Given the description of an element on the screen output the (x, y) to click on. 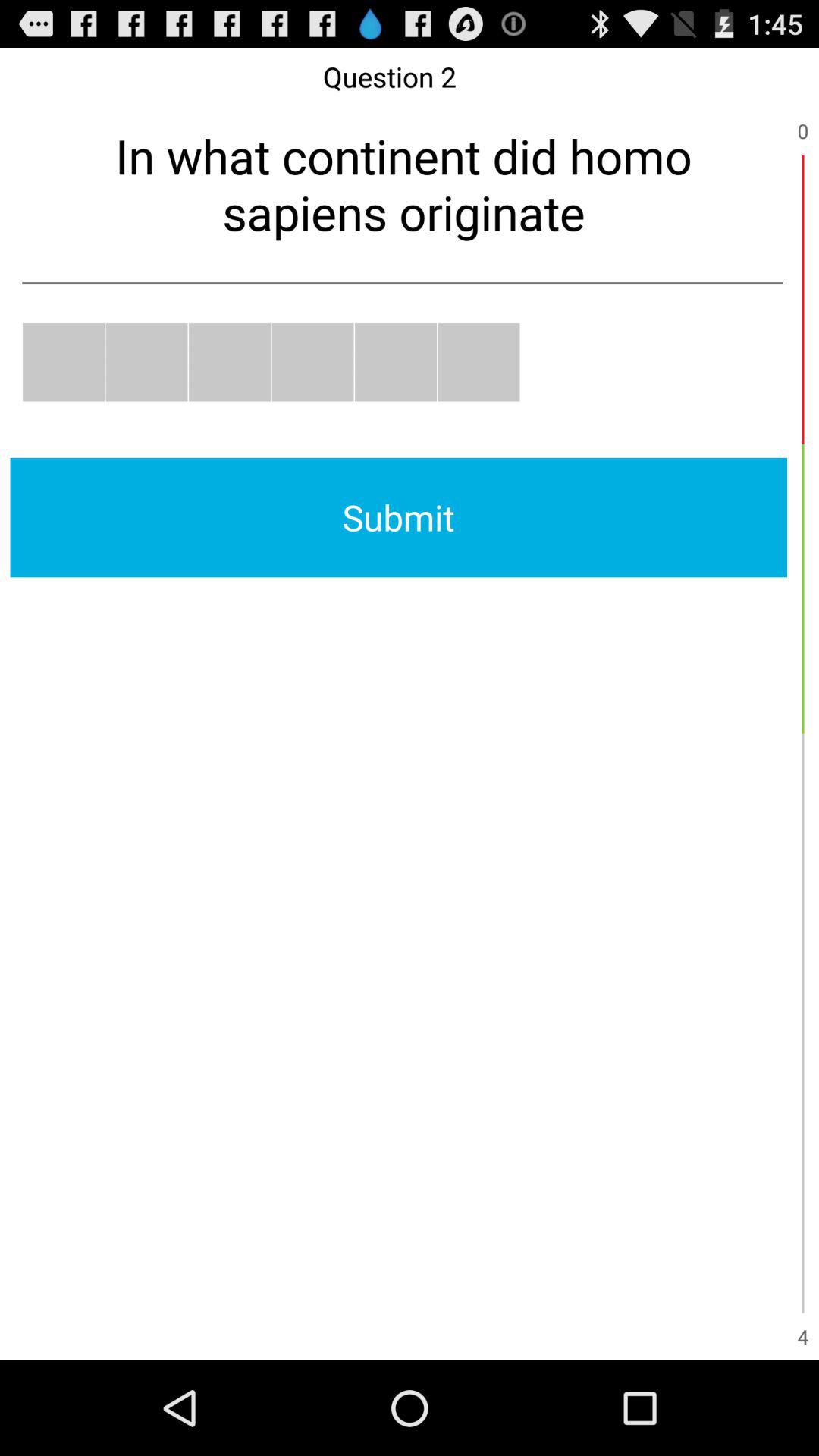
uncover hint clue (312, 362)
